Given the description of an element on the screen output the (x, y) to click on. 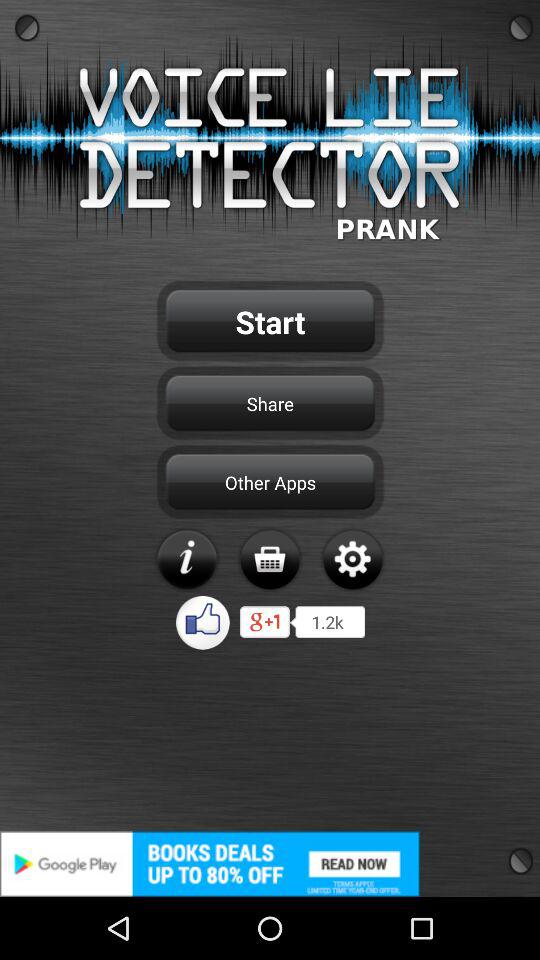
go to seanting (352, 559)
